Given the description of an element on the screen output the (x, y) to click on. 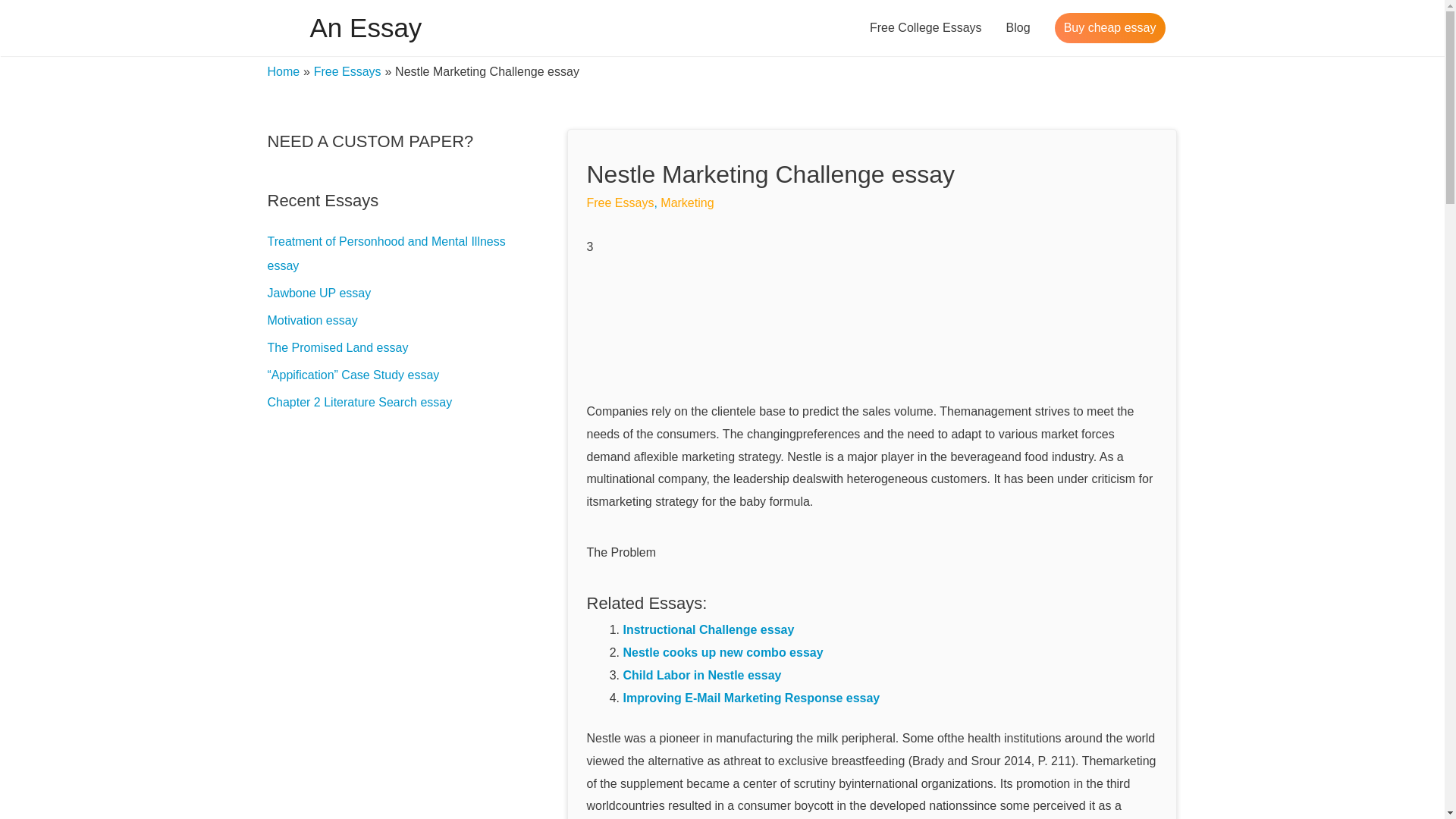
Nestle cooks up new combo essay (723, 652)
Free College Essays (925, 28)
Marketing (687, 202)
Jawbone UP essay (318, 292)
Improving E-Mail Marketing Response essay (751, 697)
An Essay (365, 27)
The Promised Land essay (336, 347)
Free Essays (619, 202)
Child Labor in Nestle essay (702, 675)
Chapter 2 Literature Search essay (358, 401)
Buy cheap essay (1109, 28)
Improving E-Mail Marketing Response essay (751, 697)
Child Labor in Nestle essay (702, 675)
Instructional Challenge essay (708, 629)
Nestle cooks up new combo essay (723, 652)
